Given the description of an element on the screen output the (x, y) to click on. 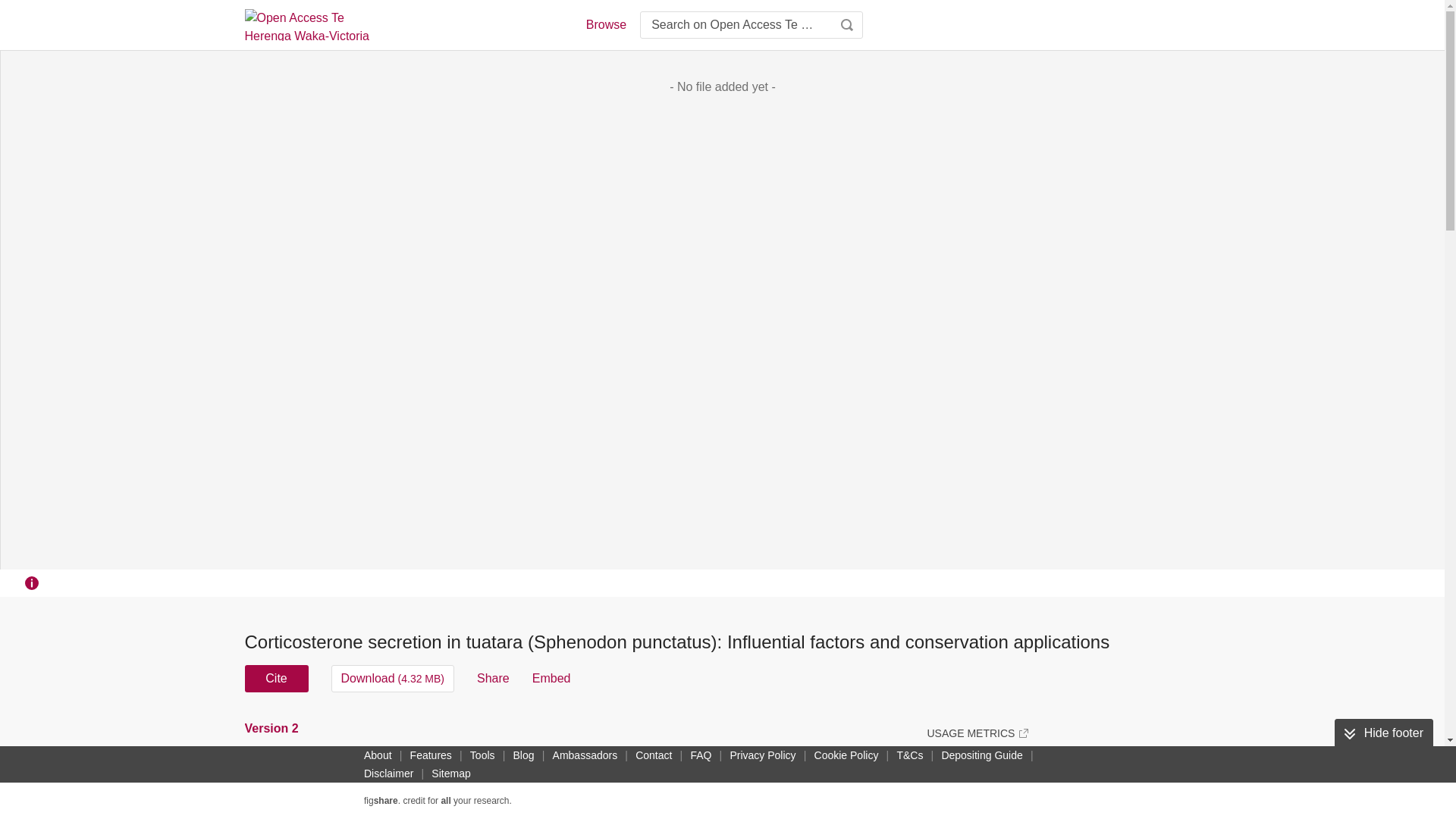
Share (493, 678)
Cite (275, 678)
USAGE METRICS (976, 732)
Features (431, 755)
Hide footer (1383, 733)
Embed (551, 678)
Version 2 (273, 728)
About (377, 755)
Browse (605, 24)
Tools (482, 755)
